Given the description of an element on the screen output the (x, y) to click on. 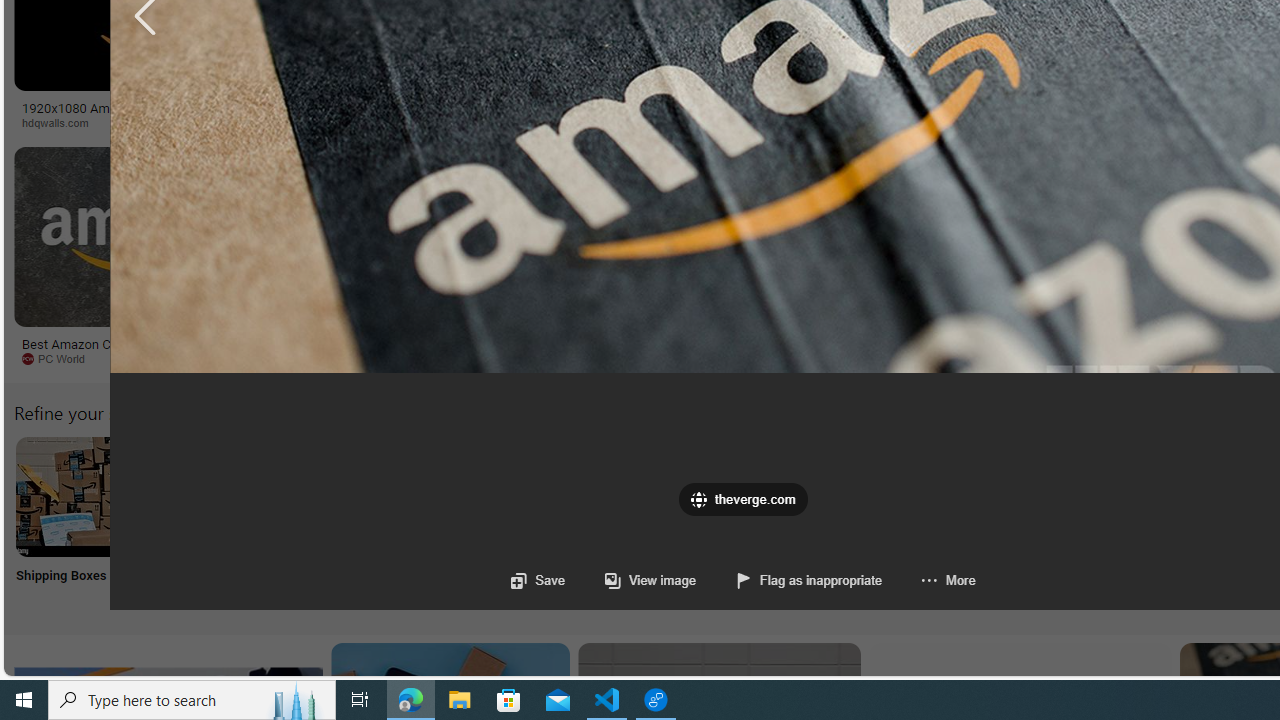
Amazon Package Delivery (735, 496)
Retail Store (867, 521)
Amazon Retail Store (867, 496)
manilashaker.com (1162, 358)
aiophotoz.com (666, 359)
Best Amazon Cyber Monday deals 2019 | PCWorld (146, 350)
Amazon Package Delivery Package Delivery (735, 521)
Save (537, 580)
